Given the description of an element on the screen output the (x, y) to click on. 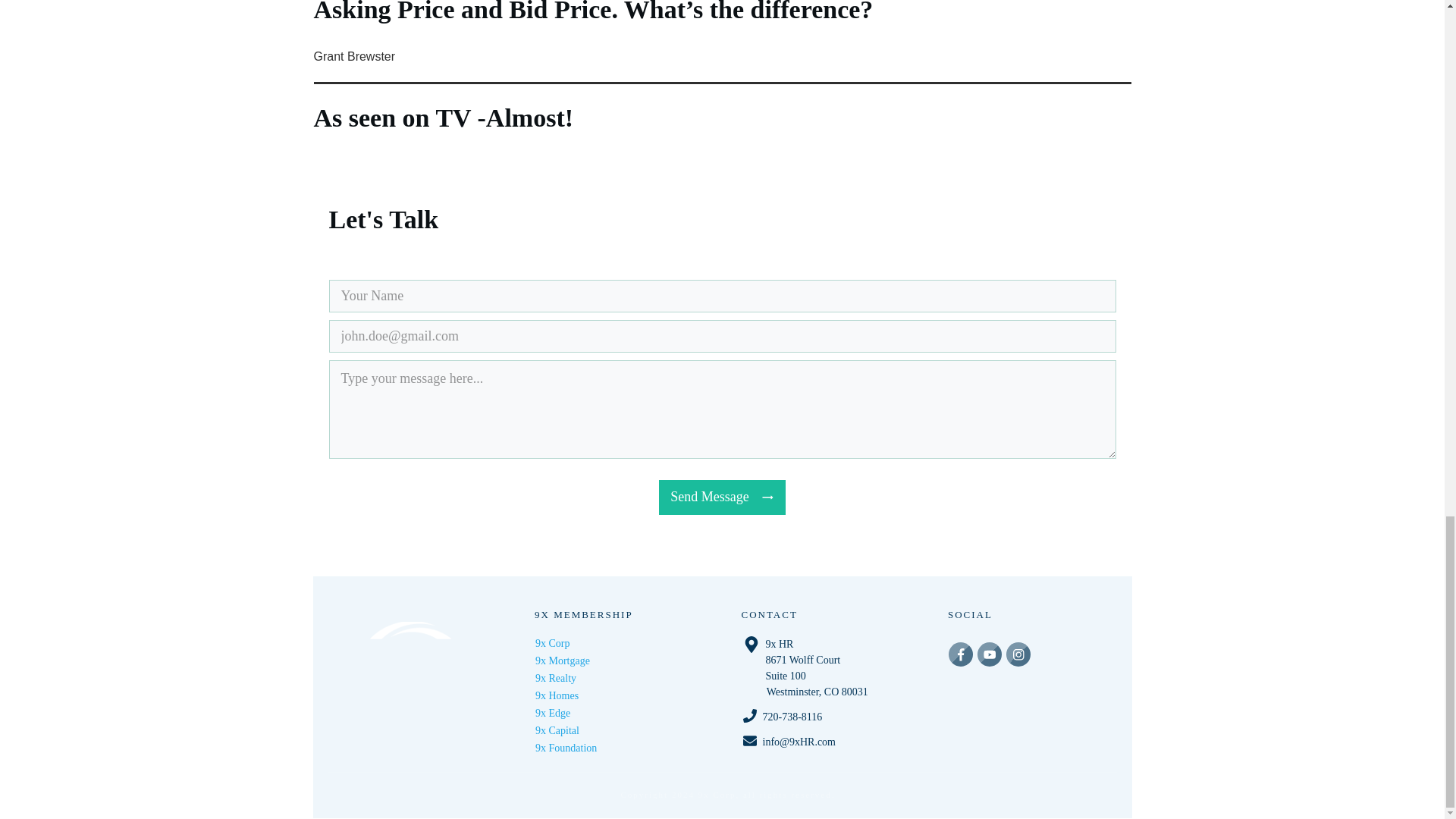
Send Message (721, 497)
9x Realty (555, 677)
9x Homes (556, 695)
As seen on TV -Almost! (722, 100)
9x Mortgage (562, 660)
9x Capital (557, 730)
WHITE 9x LOGO TRANSPARANT copy (411, 677)
9x Foundation (565, 747)
9x Edge (552, 713)
9x Corp (552, 643)
